Given the description of an element on the screen output the (x, y) to click on. 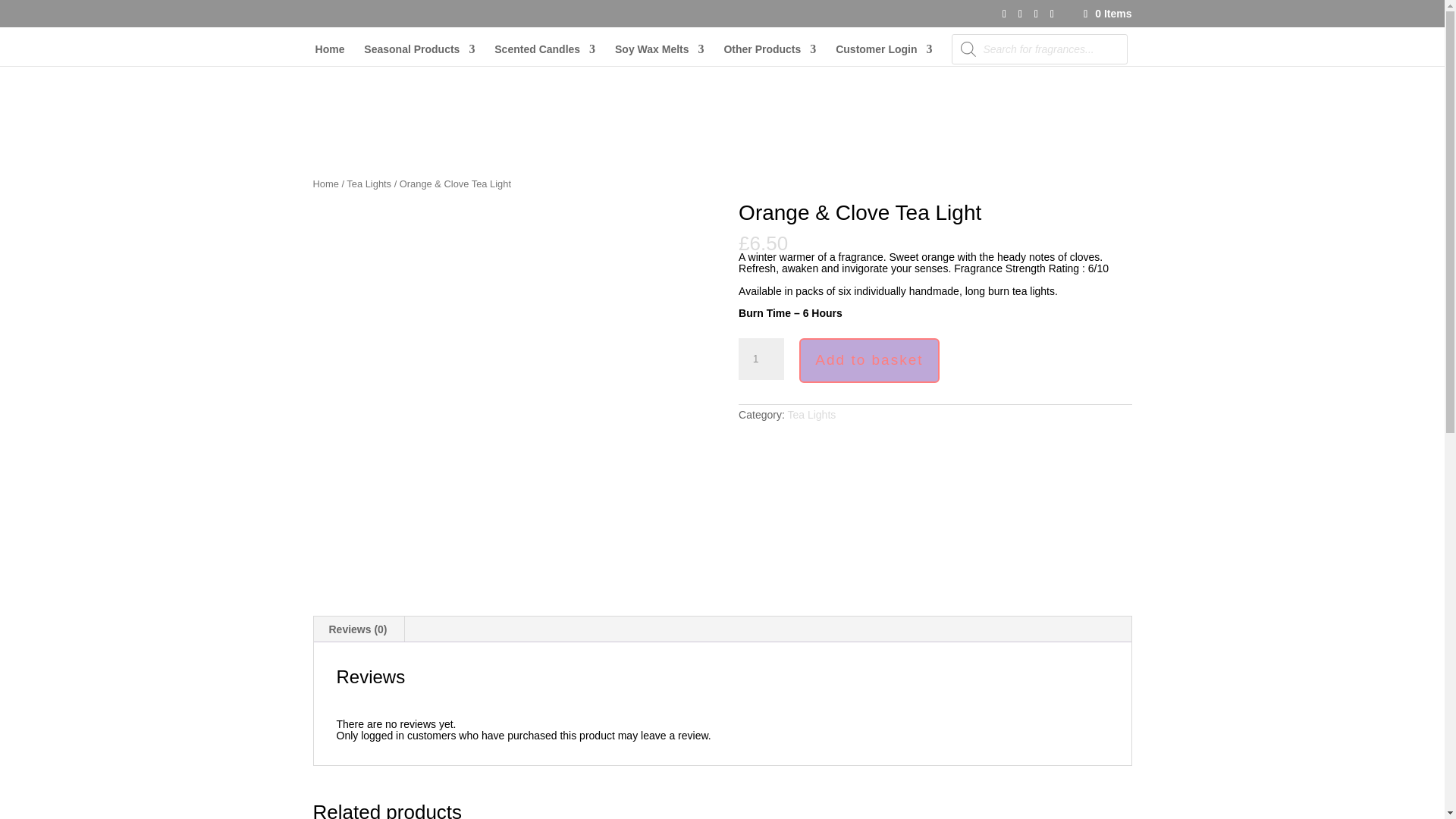
Tea Lights (368, 183)
Soy Wax Melts (659, 55)
Home (330, 55)
Other Products (769, 55)
Home (325, 183)
1 (761, 359)
0 Items (1105, 13)
Add to basket (869, 361)
Seasonal Products (419, 55)
Tea Lights (811, 414)
Customer Login (883, 55)
Scented Candles (545, 55)
